Given the description of an element on the screen output the (x, y) to click on. 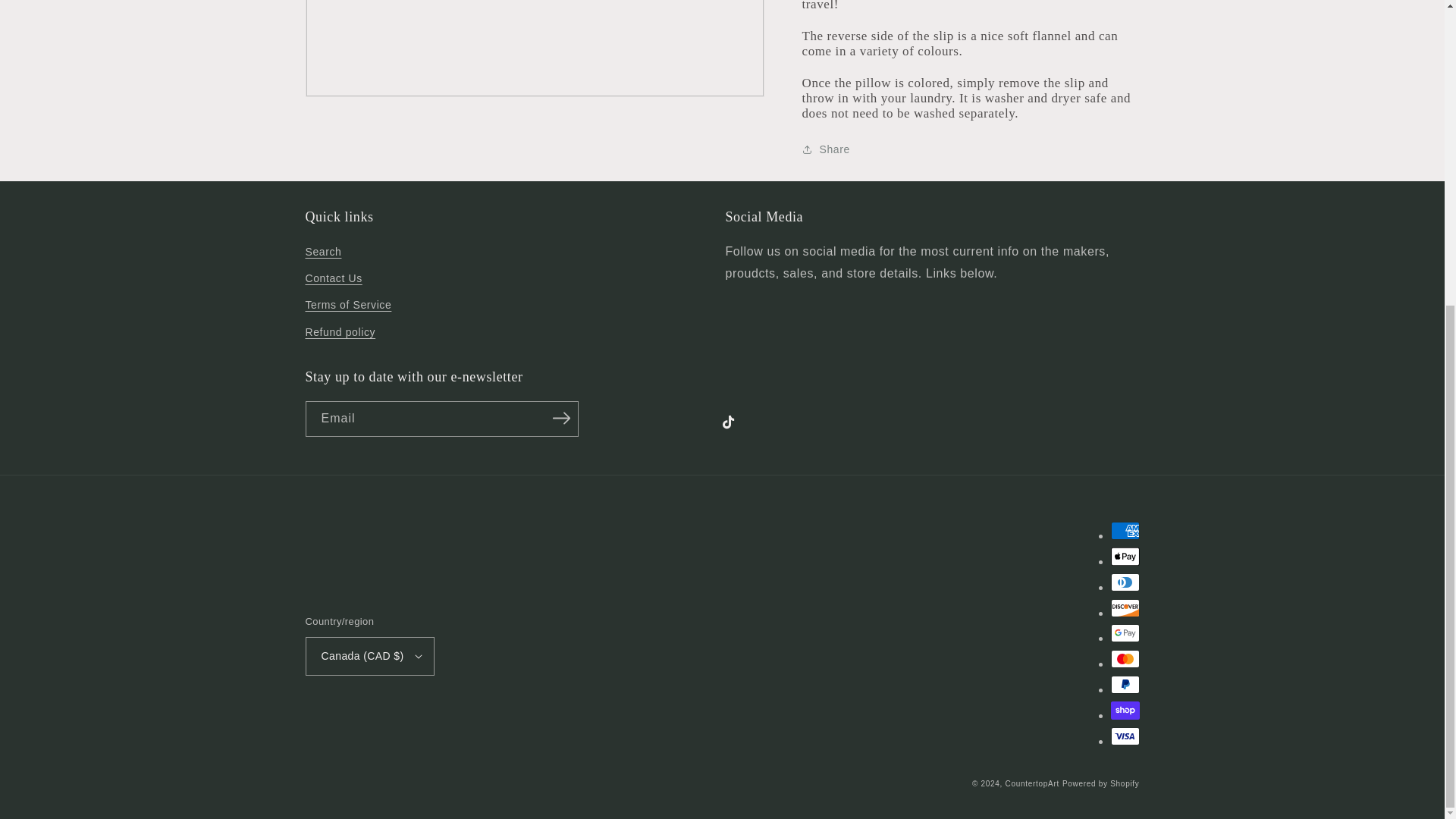
Diners Club (1123, 582)
Apple Pay (1123, 556)
PayPal (1123, 684)
Discover (1123, 607)
American Express (1123, 530)
Google Pay (1123, 633)
Mastercard (1123, 659)
